Given the description of an element on the screen output the (x, y) to click on. 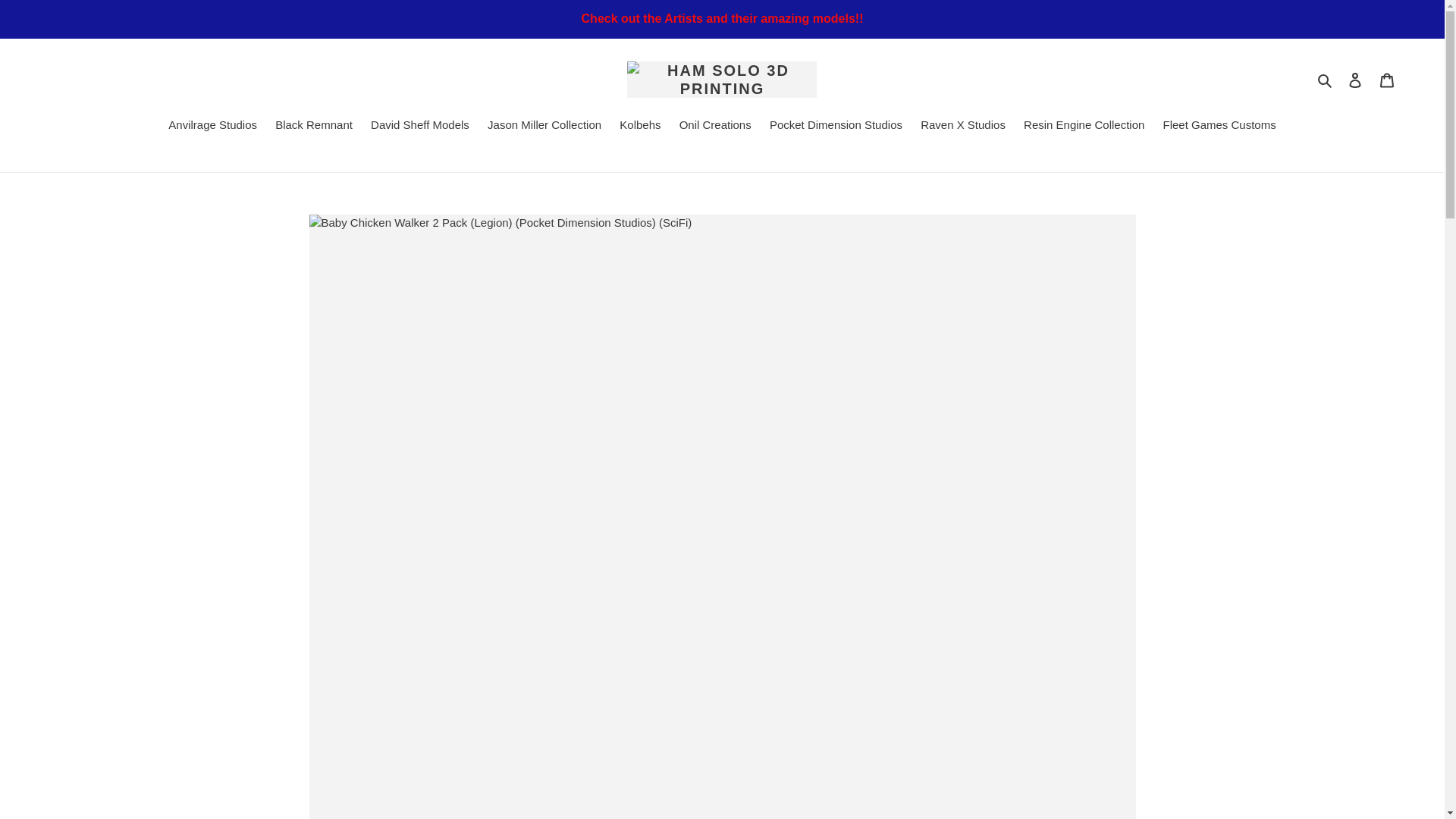
Anvilrage Studios (212, 126)
Jason Miller Collection (544, 126)
Kolbehs (639, 126)
Raven X Studios (962, 126)
Pocket Dimension Studios (835, 126)
Log in (1355, 79)
Onil Creations (714, 126)
Cart (1387, 79)
Search (1326, 79)
Black Remnant (313, 126)
